Given the description of an element on the screen output the (x, y) to click on. 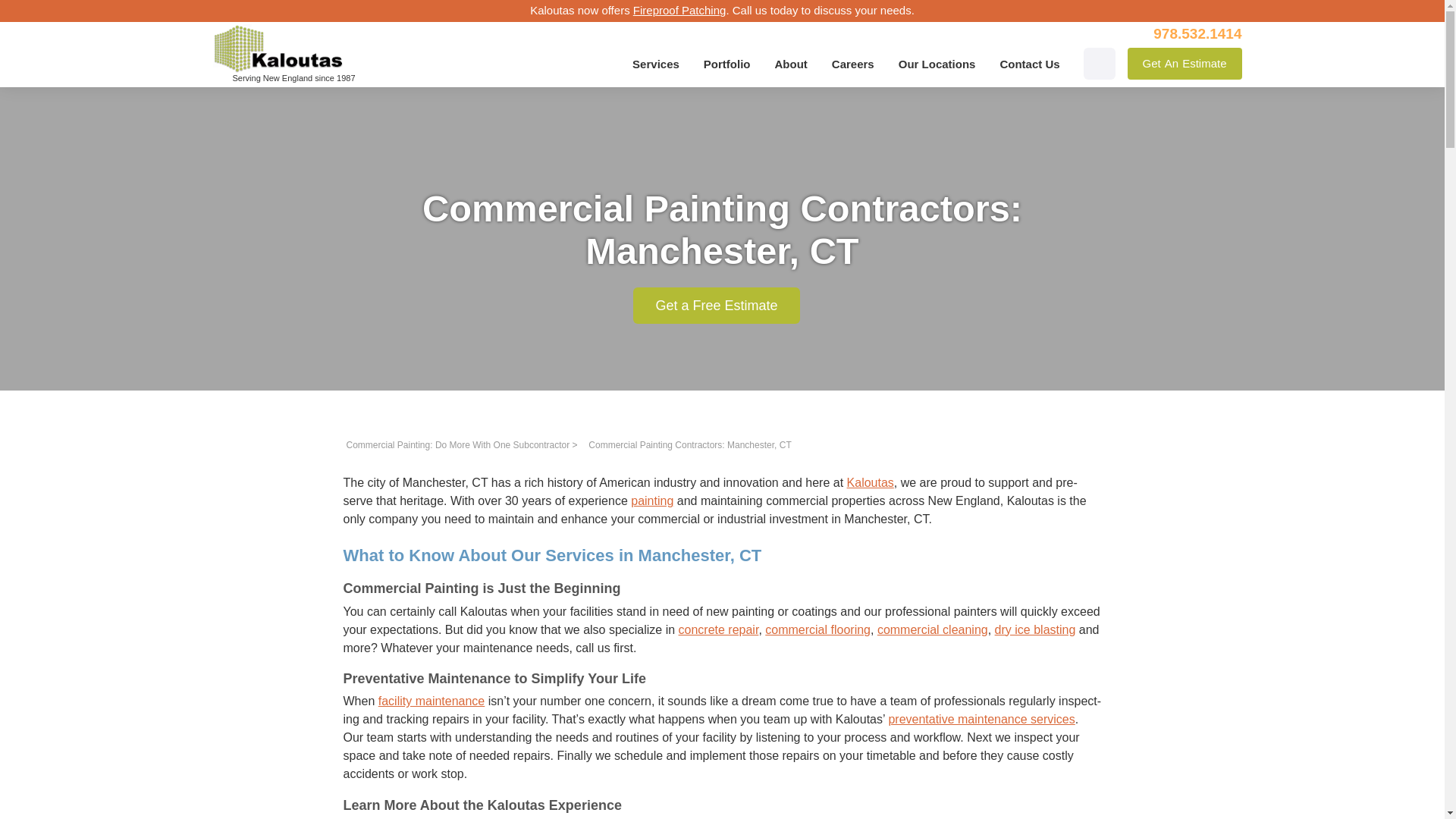
Careers (852, 64)
Kaloutas (870, 481)
Get a Free Estimate (716, 305)
Commercial Painting: Do More With One Subcontractor (457, 444)
Commercial Painting Contractors: Manchester, CT (689, 444)
978.532.1414 (1197, 33)
Fireproof Patching (1183, 63)
Contact Us (679, 10)
Serving New England since 1987 (1029, 64)
